Given the description of an element on the screen output the (x, y) to click on. 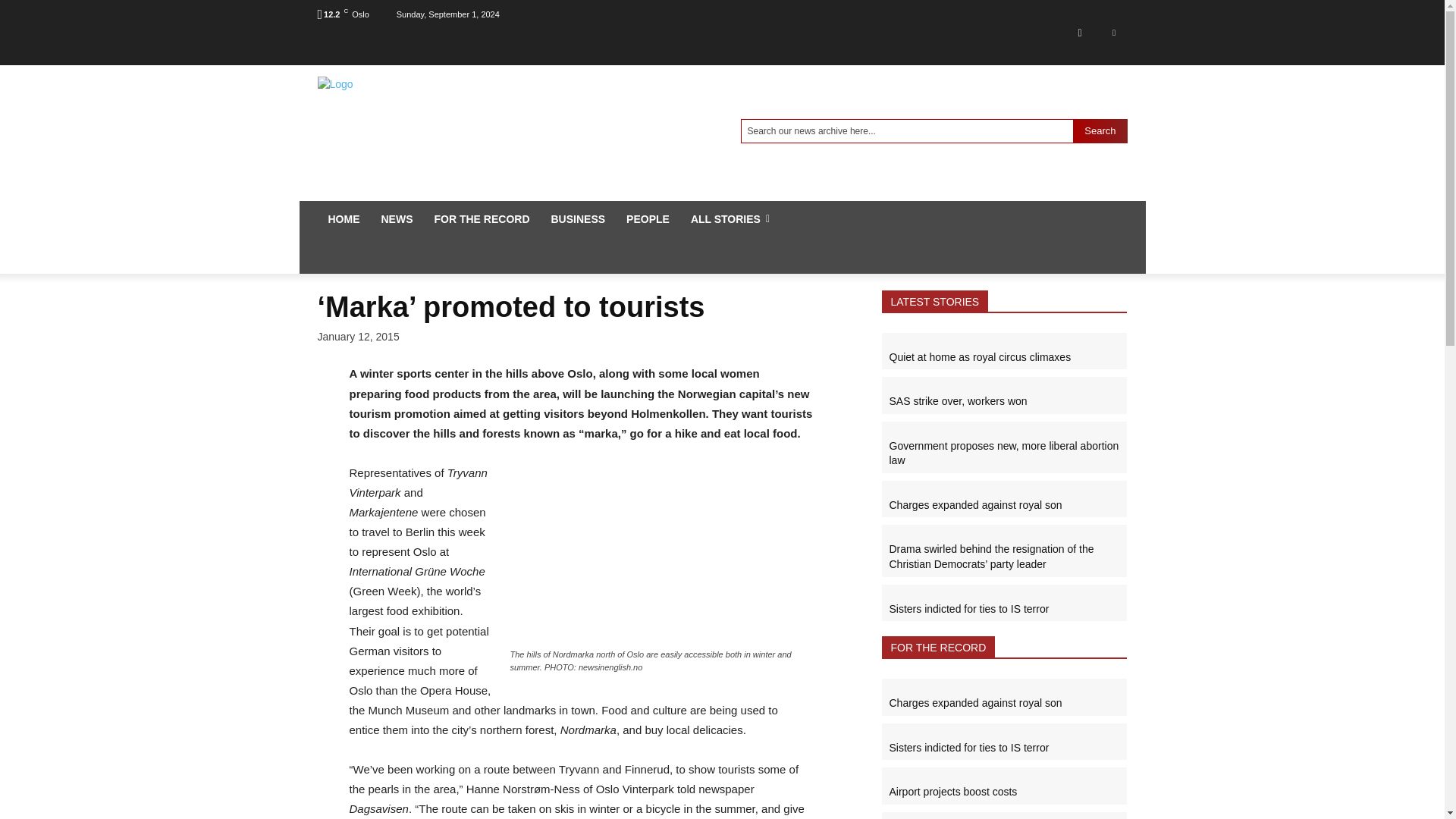
Sisters indicted for ties to IS terror (968, 747)
BUSINESS (577, 218)
Government proposes new, more liberal abortion law (1003, 452)
Facebook (1079, 32)
HOME (343, 218)
Quiet at home as royal circus climaxes (979, 357)
Twitter (1113, 32)
PEOPLE (647, 218)
ALL STORIES (729, 218)
Charges expanded against royal son (974, 702)
